Given the description of an element on the screen output the (x, y) to click on. 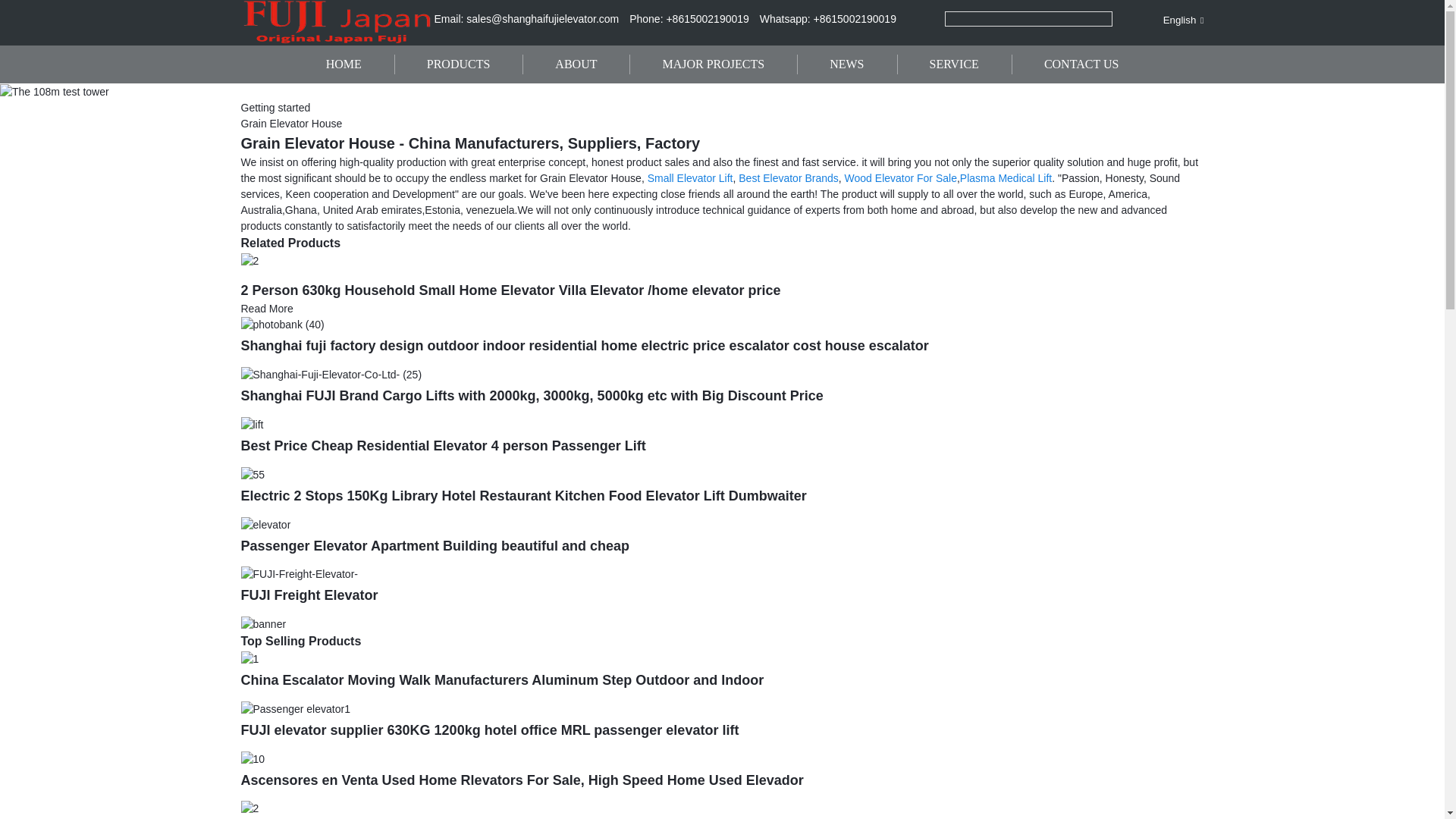
PRODUCTS (458, 64)
English (1171, 19)
HOME (343, 64)
Best Elevator Brands (788, 177)
CONTACT US (1080, 64)
MAJOR PROJECTS (712, 64)
